Given the description of an element on the screen output the (x, y) to click on. 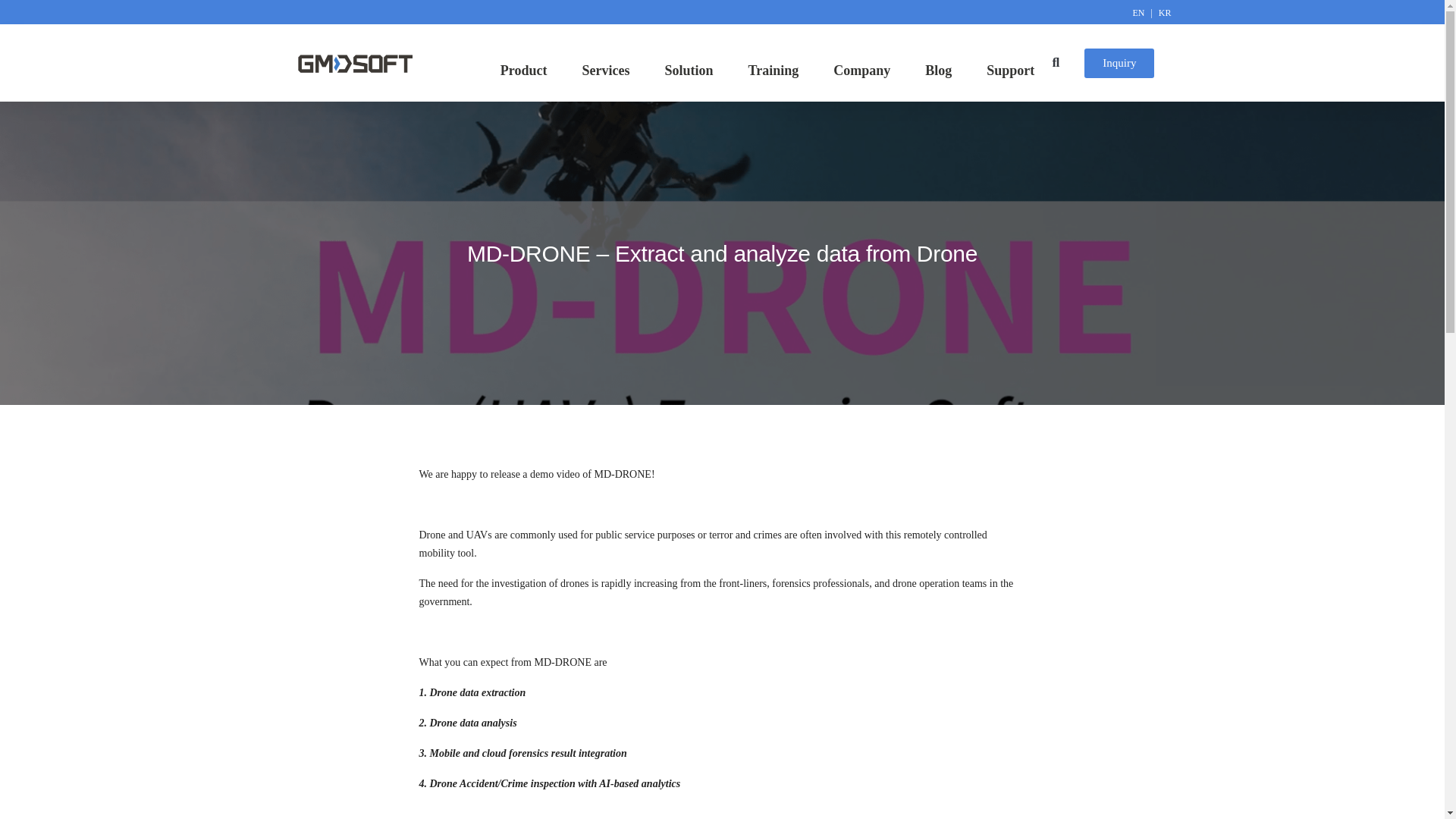
EN (1141, 12)
Services (609, 70)
Training (777, 70)
GMDSOFT-Logo-Line-1.png (354, 63)
Company (865, 70)
Solution (692, 70)
Product (527, 70)
KR (1165, 12)
